Given the description of an element on the screen output the (x, y) to click on. 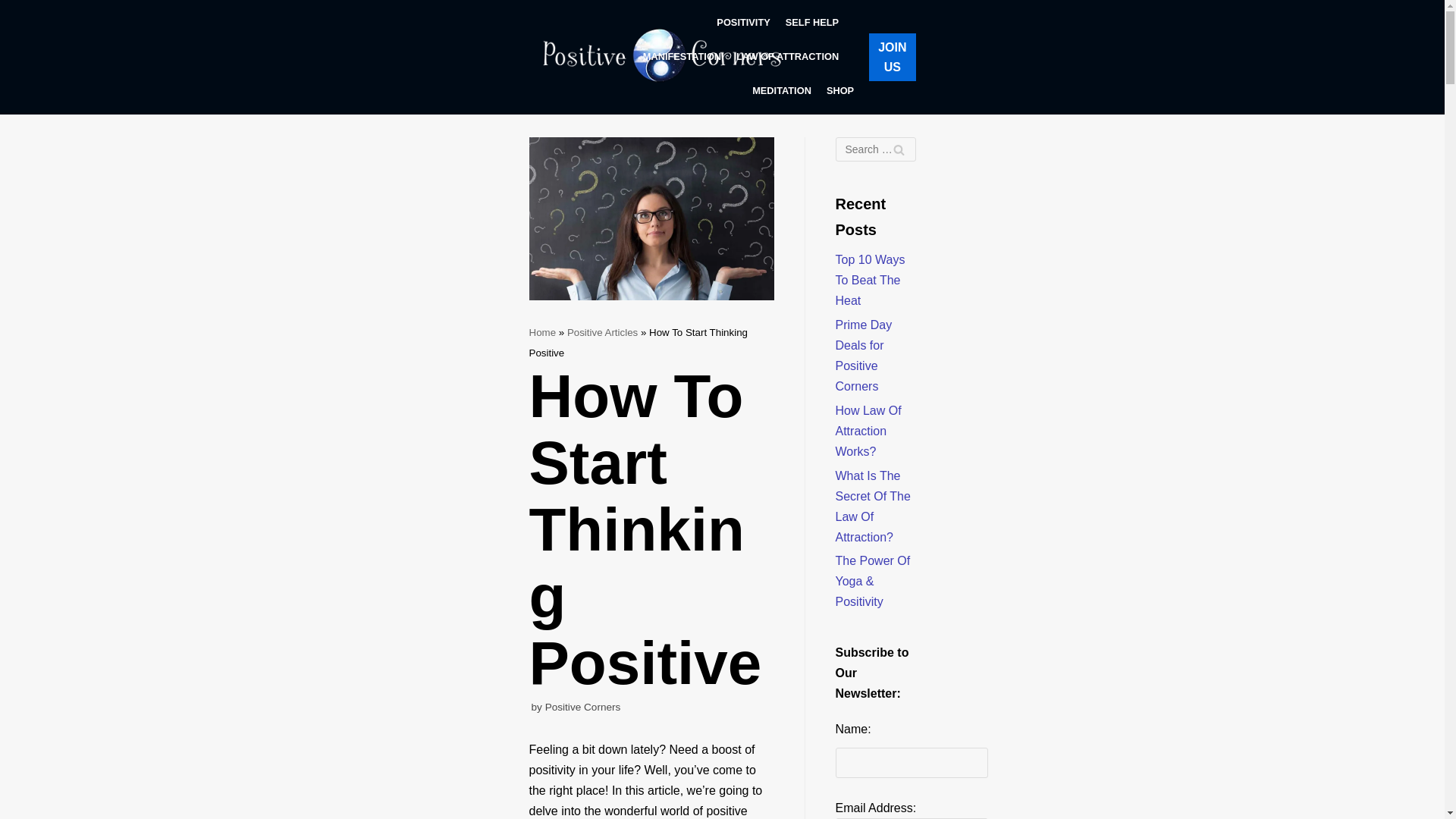
Search (897, 149)
Positive Corners (661, 57)
How Law Of Attraction Works? (868, 430)
Top 10 Ways To Beat The Heat (870, 280)
Positive Articles (602, 332)
Search (897, 149)
Posts by Positive Corners (582, 706)
JOIN US (892, 57)
Search (897, 149)
Positive Corners (582, 706)
Skip to content (15, 31)
LAW OF ATTRACTION (787, 56)
MEDITATION (781, 90)
MANIFESTATION (681, 56)
SELF HELP (812, 22)
